Given the description of an element on the screen output the (x, y) to click on. 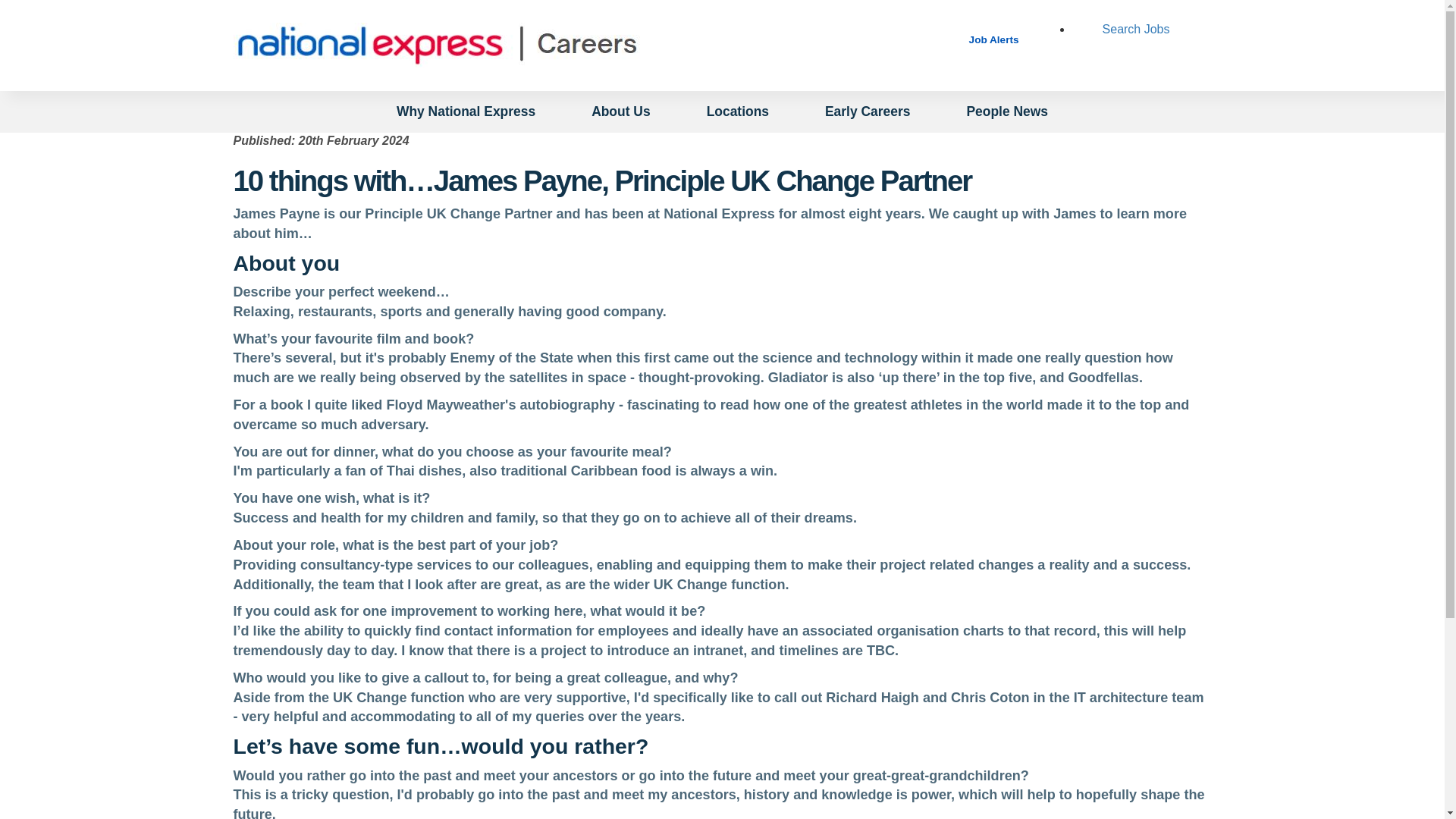
Job Alerts (994, 39)
Early Careers (866, 111)
Locations (737, 111)
Search Jobs (1135, 29)
About Us (620, 111)
People News (1006, 111)
Why National Express (465, 111)
Job Alerts (994, 39)
Search Jobs (1135, 29)
